Given the description of an element on the screen output the (x, y) to click on. 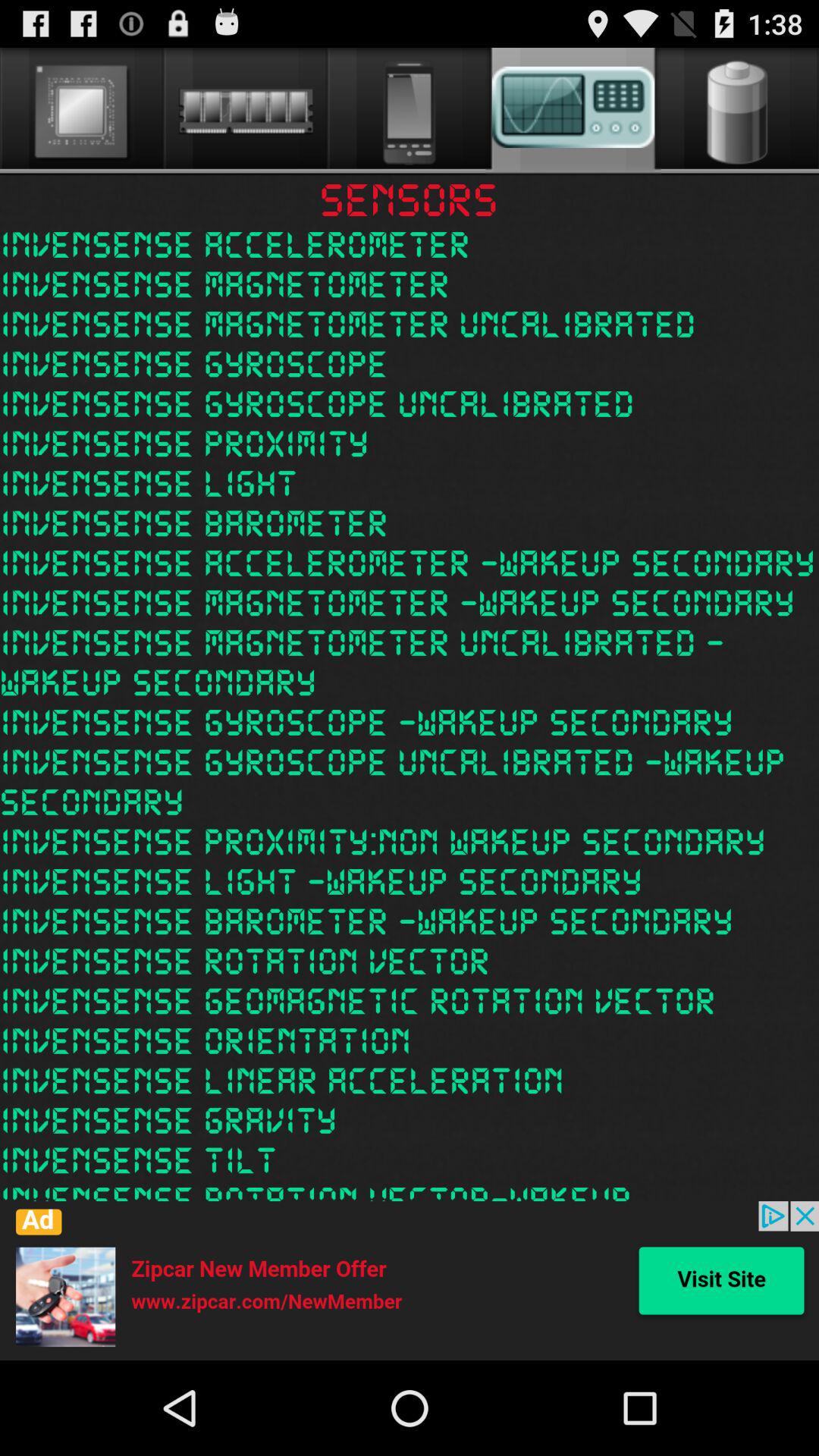
go to advertising advertisement (409, 1280)
